Given the description of an element on the screen output the (x, y) to click on. 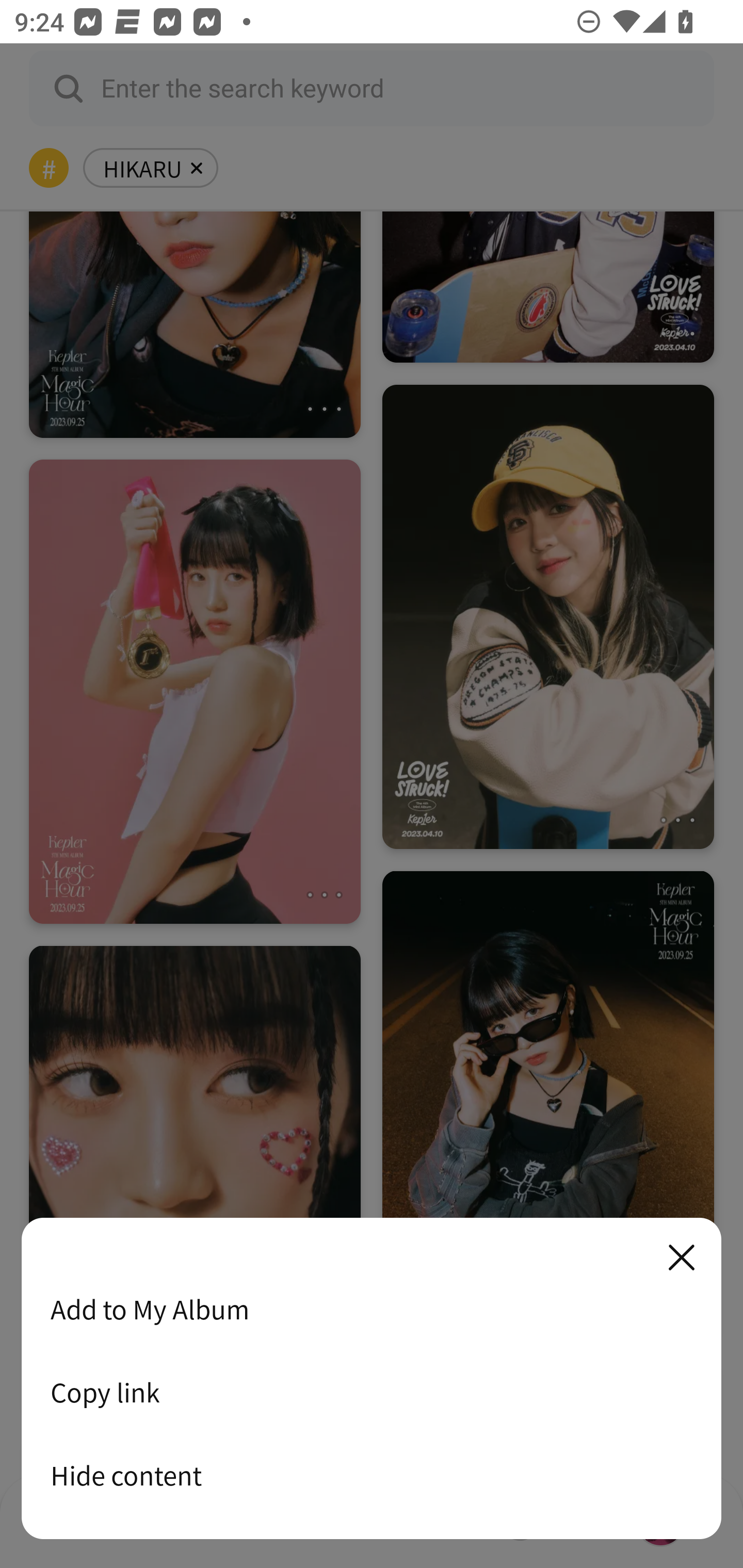
Add to My Album Copy link Hide content (371, 1378)
Add to My Album (371, 1308)
Copy link (371, 1391)
